Given the description of an element on the screen output the (x, y) to click on. 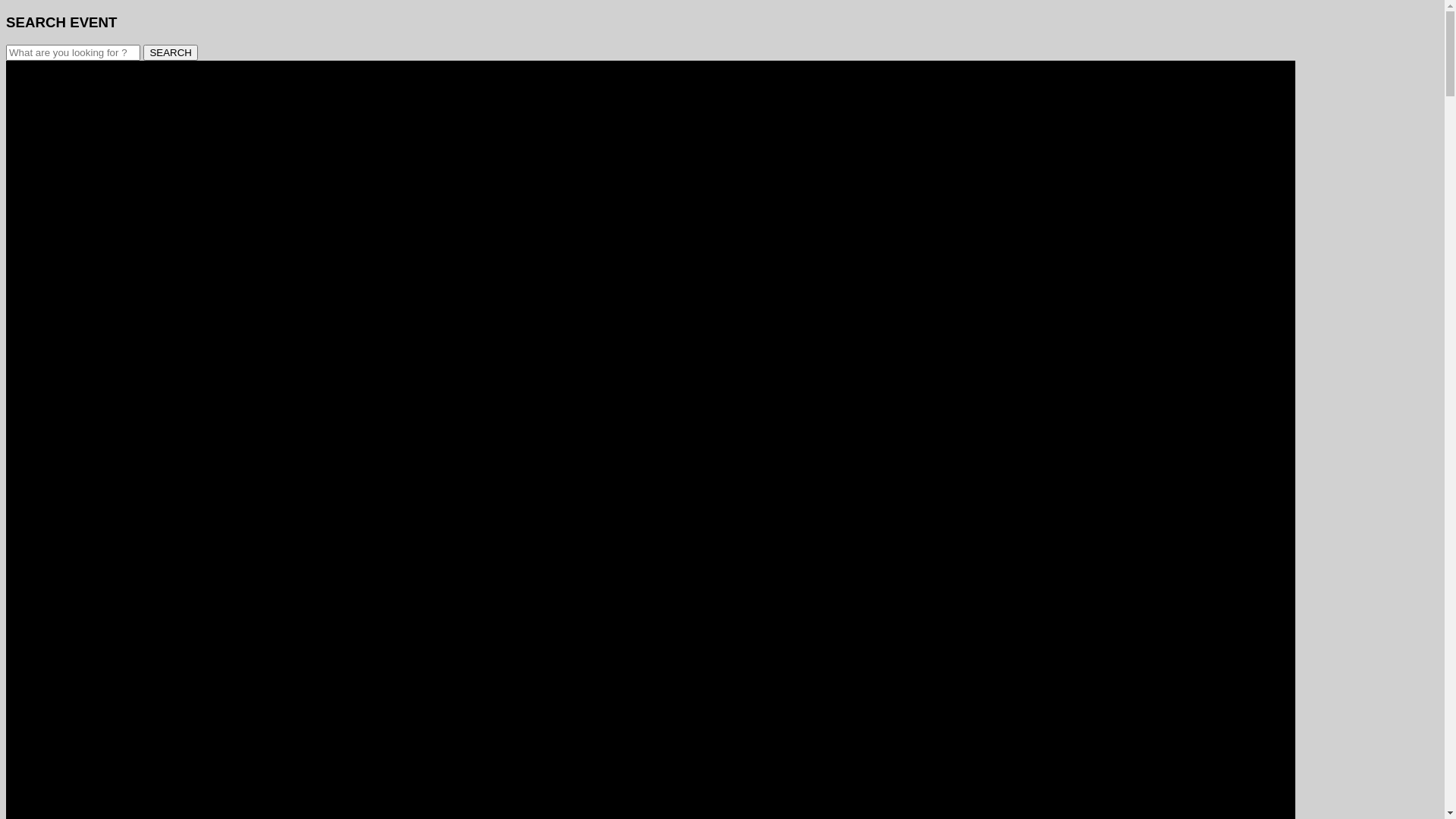
SEARCH Element type: text (170, 52)
